Given the description of an element on the screen output the (x, y) to click on. 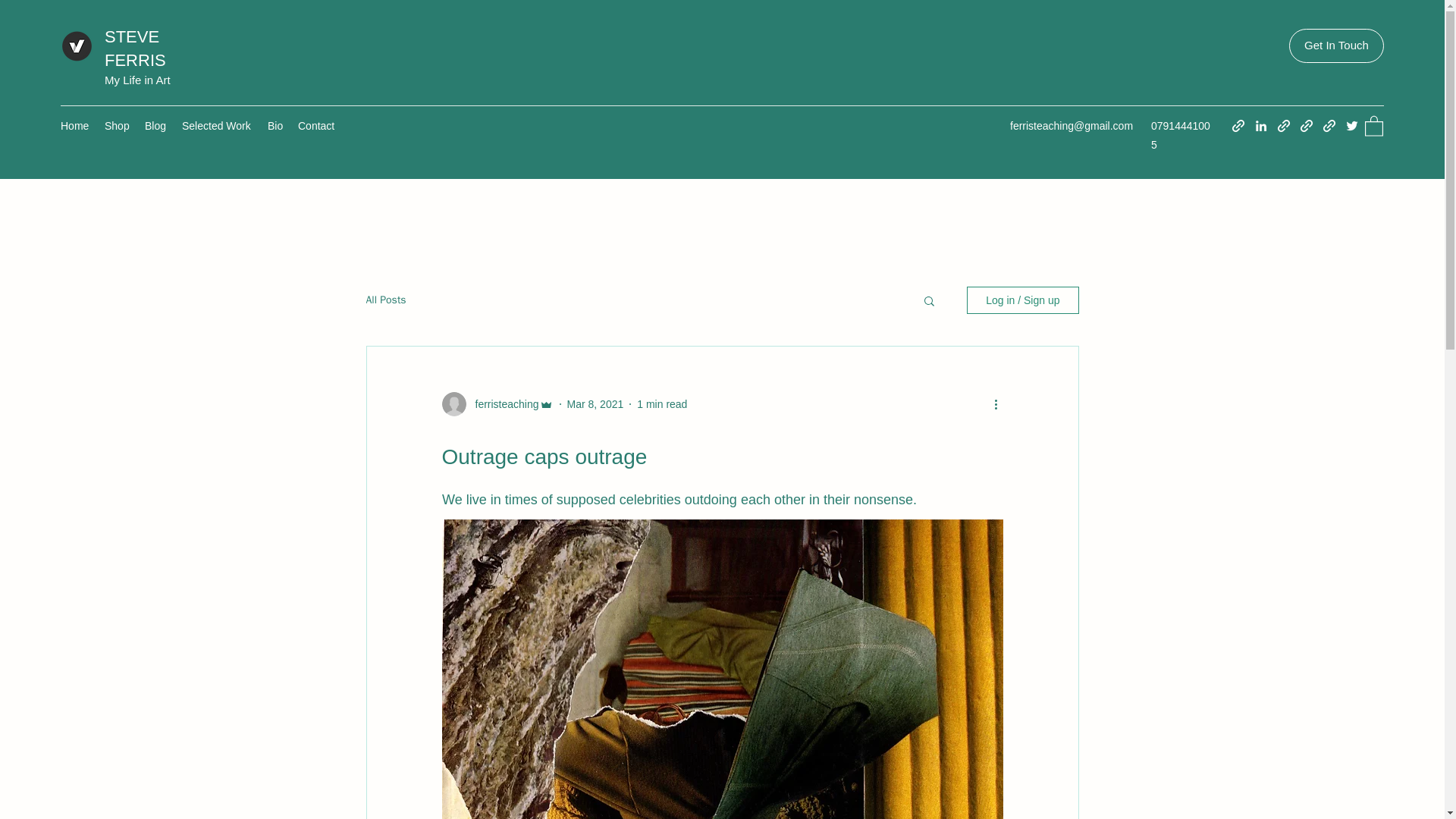
Selected Work (217, 125)
Mar 8, 2021 (595, 404)
STEVE FERRIS (134, 48)
Bio (274, 125)
ferristeaching (501, 404)
Contact (316, 125)
1 min read (662, 404)
Home (74, 125)
Blog (155, 125)
All Posts (385, 300)
